Given the description of an element on the screen output the (x, y) to click on. 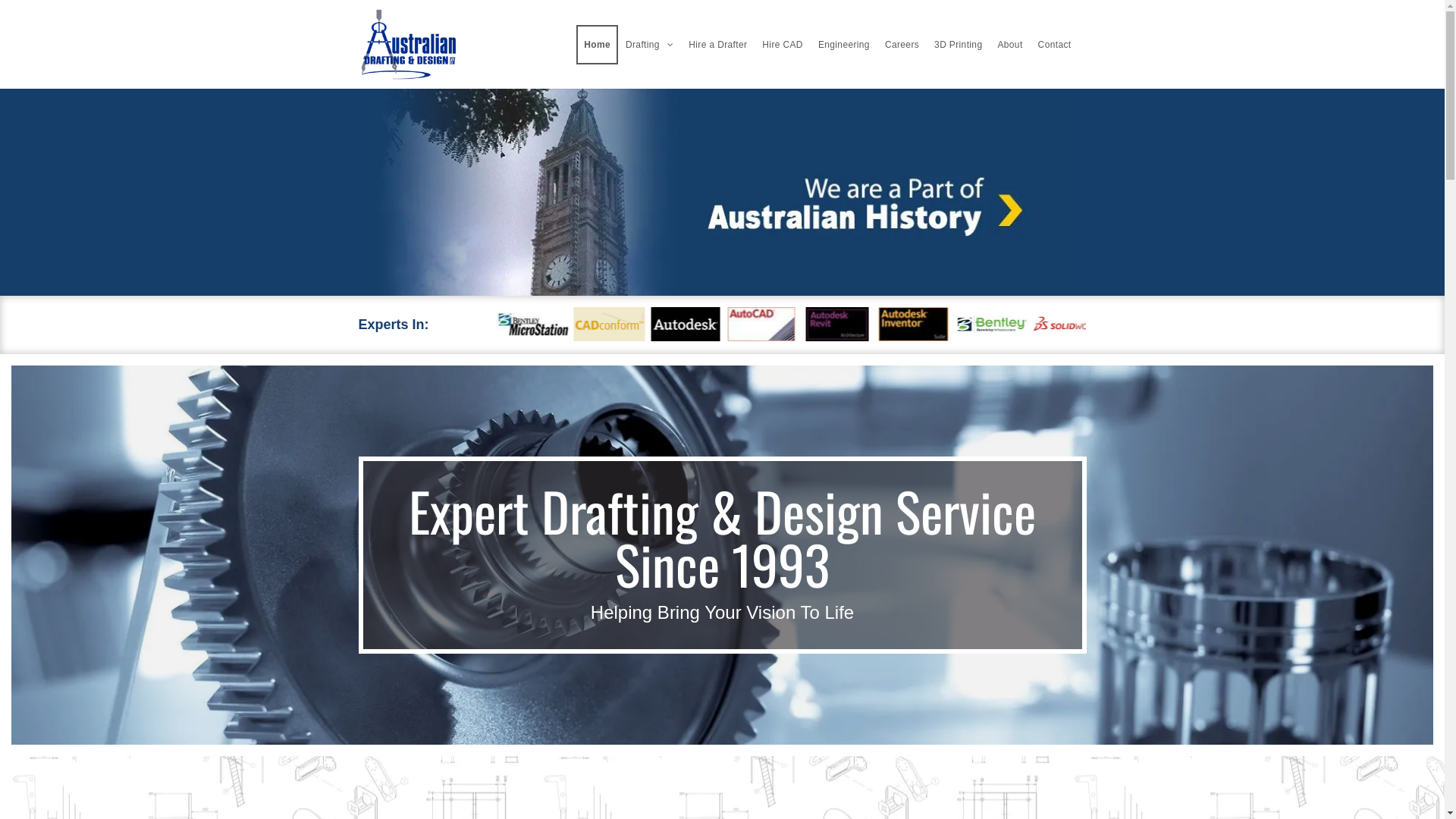
Engineering Element type: text (843, 44)
Contact Element type: text (1054, 44)
Careers Element type: text (901, 44)
Home Element type: text (597, 44)
3D Printing Element type: text (957, 44)
Drafting Element type: text (649, 44)
Hire a Drafter Element type: text (717, 44)
Hire CAD Element type: text (782, 44)
About Element type: text (1009, 44)
